Given the description of an element on the screen output the (x, y) to click on. 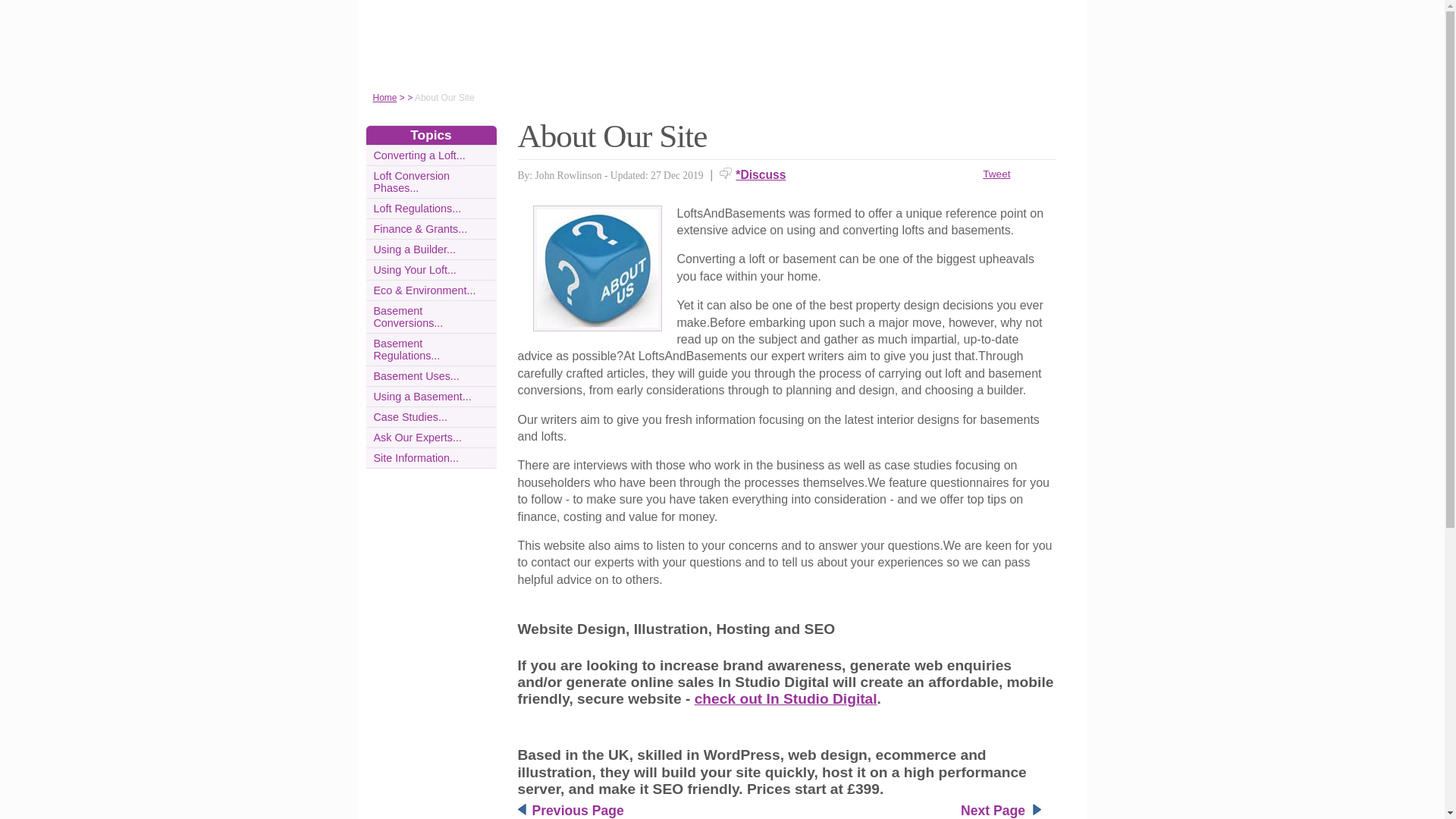
Loft Regulations... (416, 208)
Basement Regulations... (405, 349)
Site Information... (415, 458)
check out In Studio Digital (785, 698)
Basement Conversions... (407, 316)
Ask Our Experts... (416, 437)
Previous Page (578, 810)
Using a Basement... (421, 396)
Next Page (992, 810)
Basement Uses... (415, 376)
Loft Conversion Phases... (410, 181)
Using Your Loft... (413, 269)
Tweet (996, 173)
Converting a Loft... (418, 155)
Using a Builder... (413, 249)
